Given the description of an element on the screen output the (x, y) to click on. 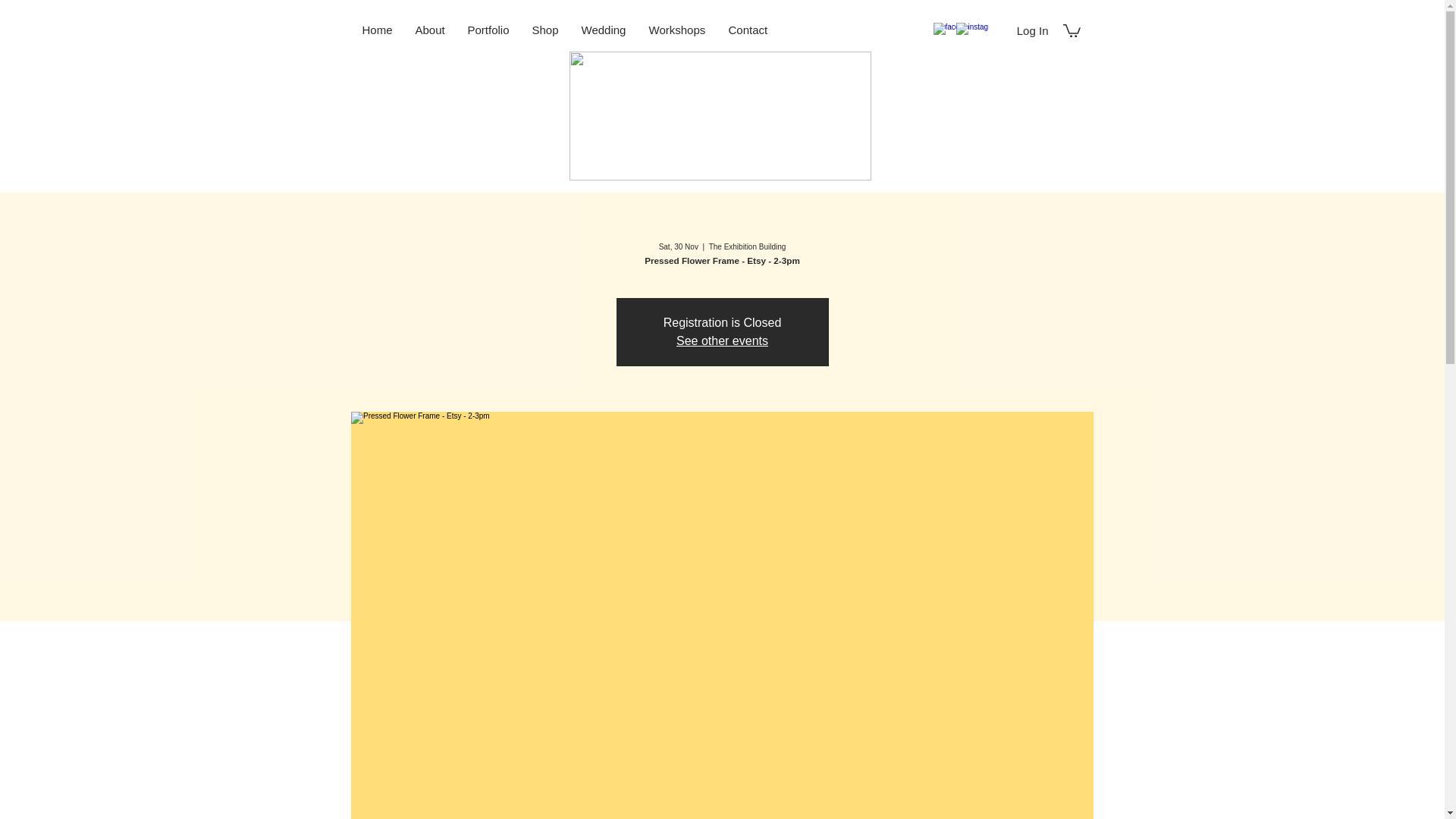
Log In (1032, 30)
Workshops (676, 29)
Portfolio (489, 29)
See other events (722, 340)
Shop (544, 29)
Contact (747, 29)
About (429, 29)
Wedding (603, 29)
Home (376, 29)
